Given the description of an element on the screen output the (x, y) to click on. 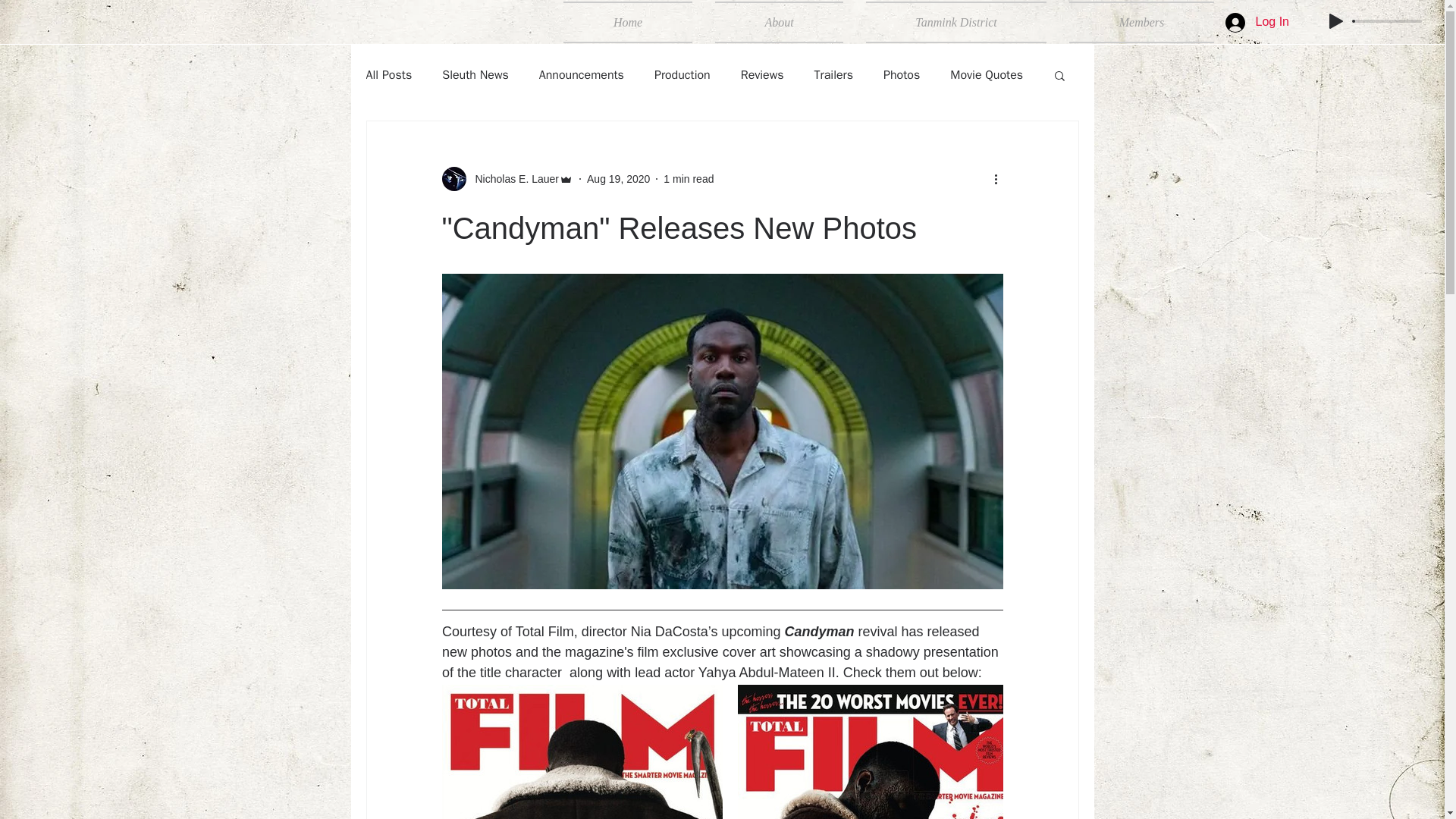
Members (1136, 22)
Reviews (762, 74)
Photos (901, 74)
Nicholas E. Lauer (512, 179)
Sleuth News (475, 74)
1 min read (688, 178)
Tanmink District (956, 22)
Trailers (833, 74)
Aug 19, 2020 (617, 178)
0 (1388, 20)
Announcements (581, 74)
Production (681, 74)
Nicholas E. Lauer (507, 178)
All Posts (388, 74)
Log In (1257, 21)
